Given the description of an element on the screen output the (x, y) to click on. 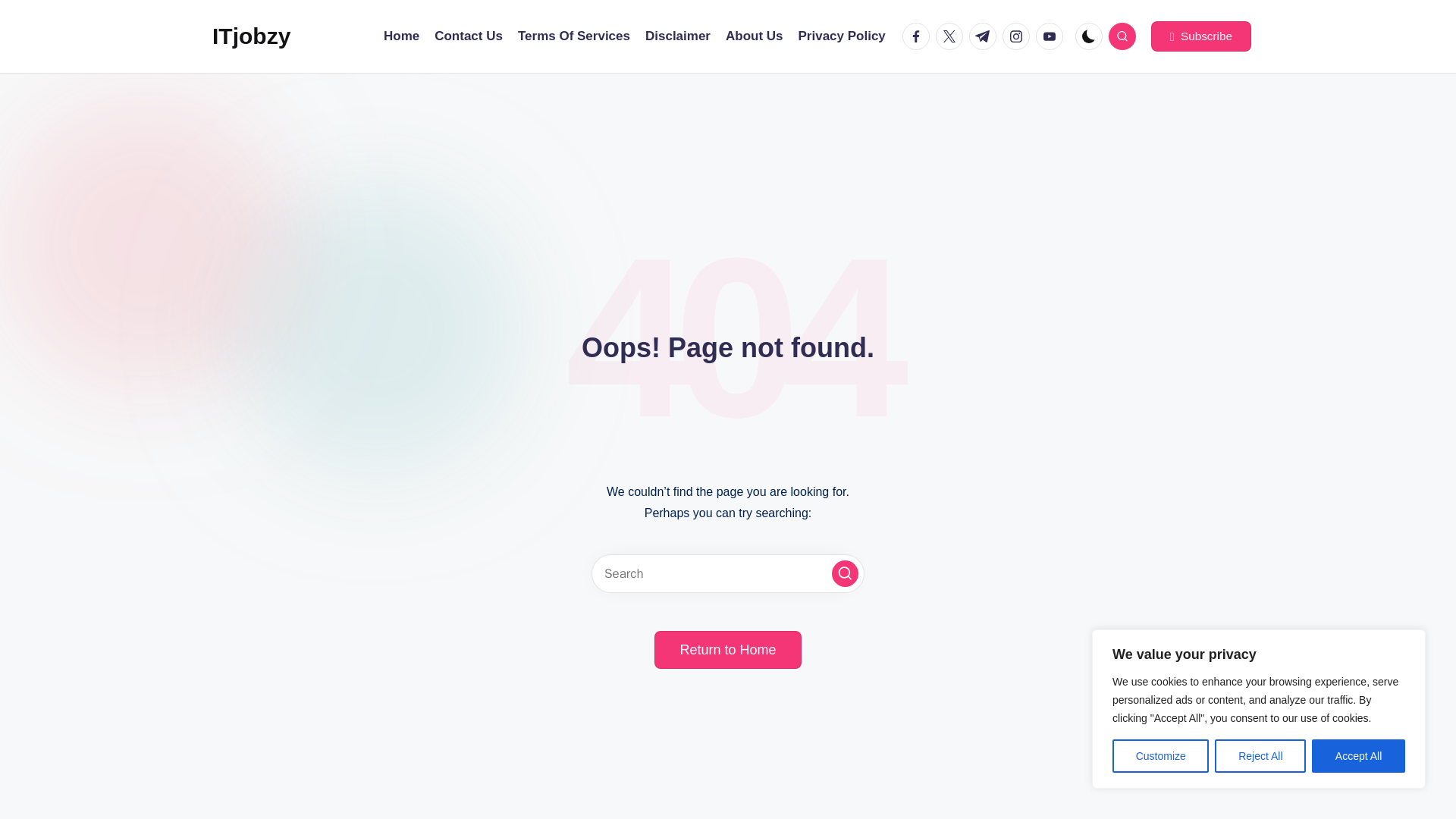
Disclaimer (677, 36)
Subscribe (1200, 36)
Return to Home (726, 649)
Customize (1160, 756)
facebook.com (919, 35)
Accept All (1358, 756)
Terms Of Services (574, 36)
t.me (986, 35)
Home (401, 36)
Contact Us (467, 36)
